Given the description of an element on the screen output the (x, y) to click on. 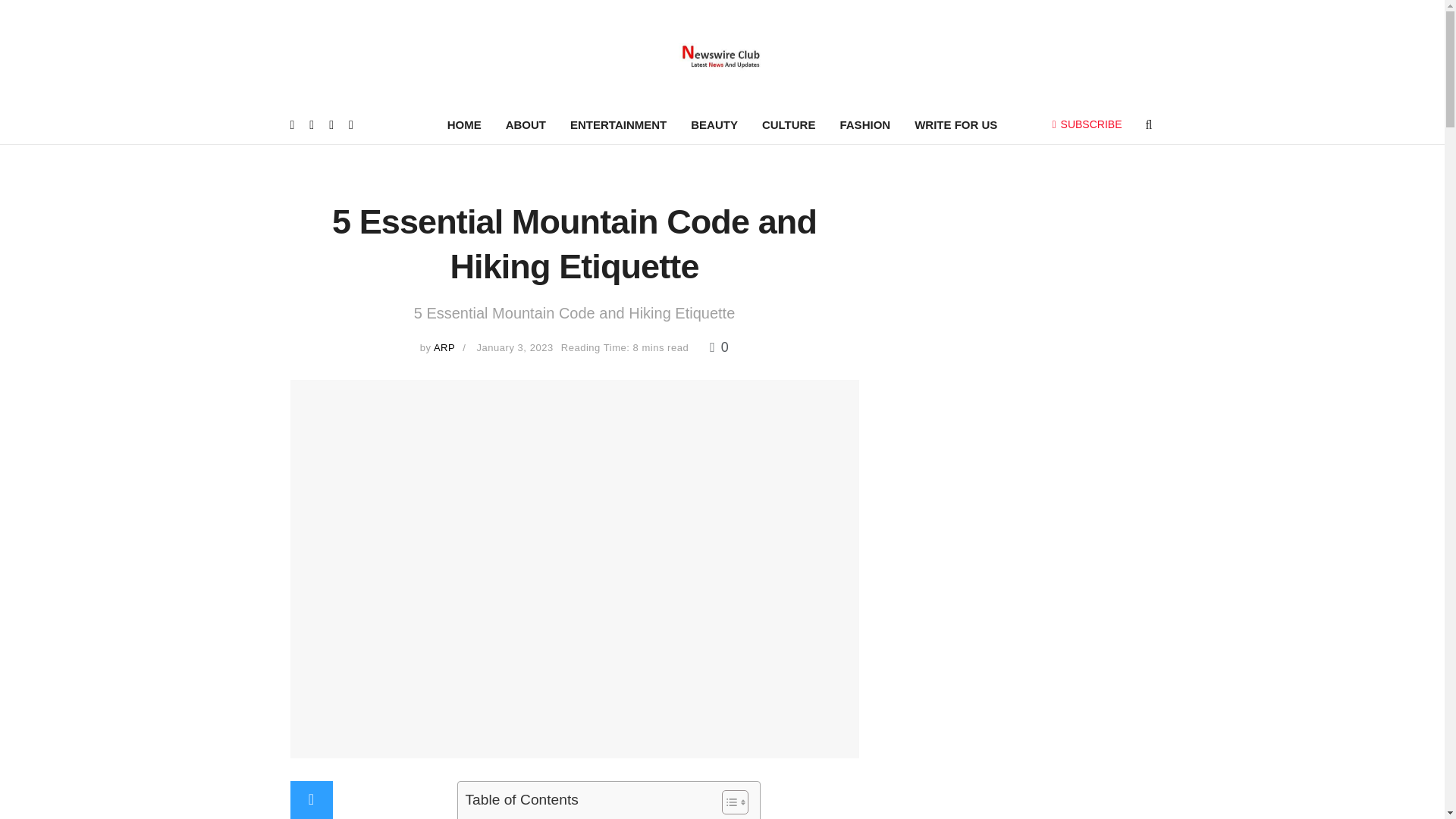
HOME (464, 125)
RELATED STORIES (533, 816)
WRITE FOR US (955, 125)
ARP (443, 347)
BEAUTY (713, 125)
January 3, 2023 (515, 347)
CULTURE (788, 125)
ABOUT (525, 125)
0 (719, 346)
SUBSCRIBE (1087, 123)
FASHION (864, 125)
ENTERTAINMENT (617, 125)
